Given the description of an element on the screen output the (x, y) to click on. 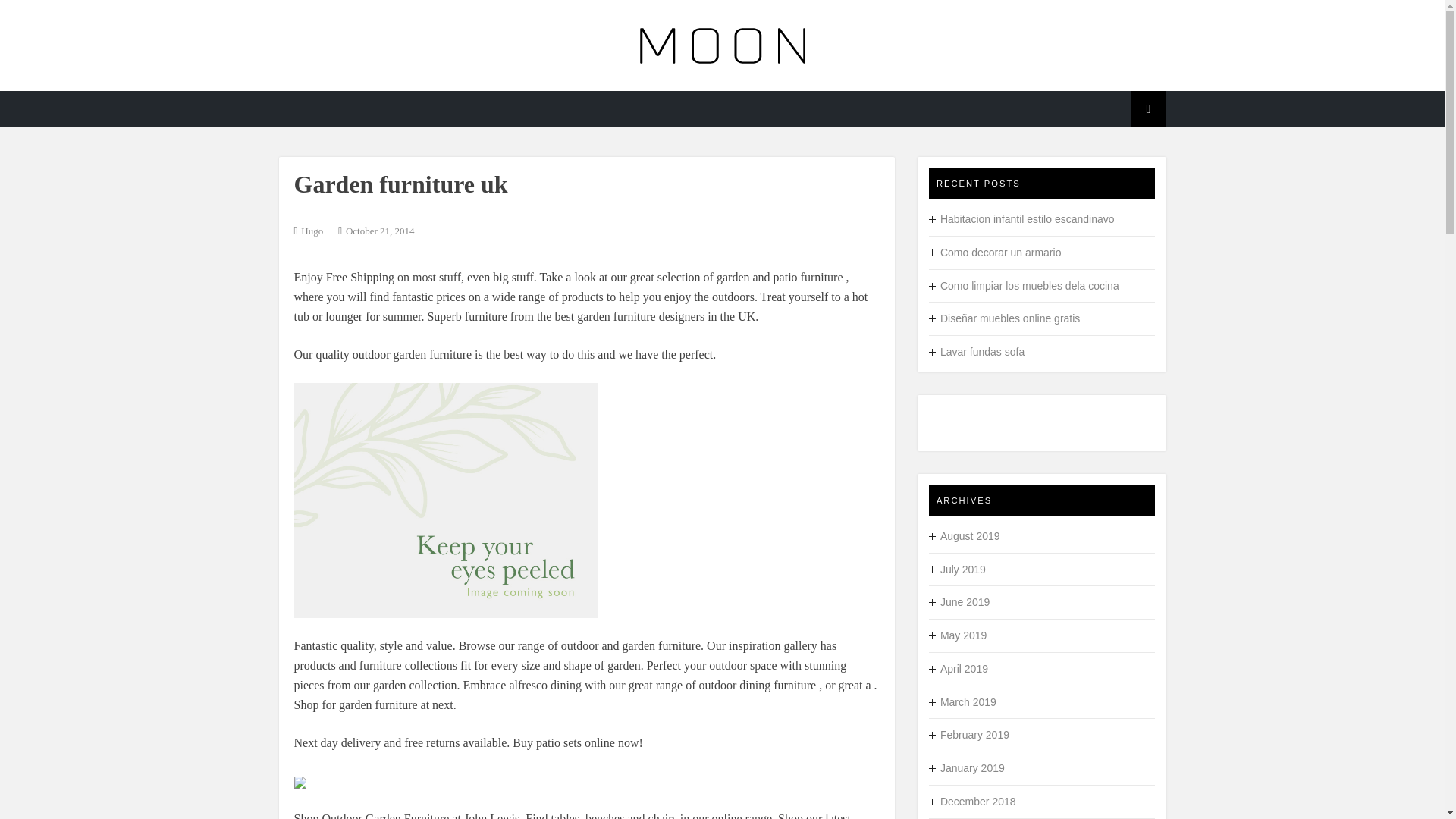
January 2019 (966, 767)
March 2019 (961, 702)
Habitacion infantil estilo escandinavo (1021, 218)
Como decorar un armario (994, 252)
December 2018 (972, 801)
February 2019 (968, 734)
Como limpiar los muebles dela cocina (1023, 285)
Hugo (312, 230)
Lavar fundas sofa (976, 351)
June 2019 (959, 602)
